Given the description of an element on the screen output the (x, y) to click on. 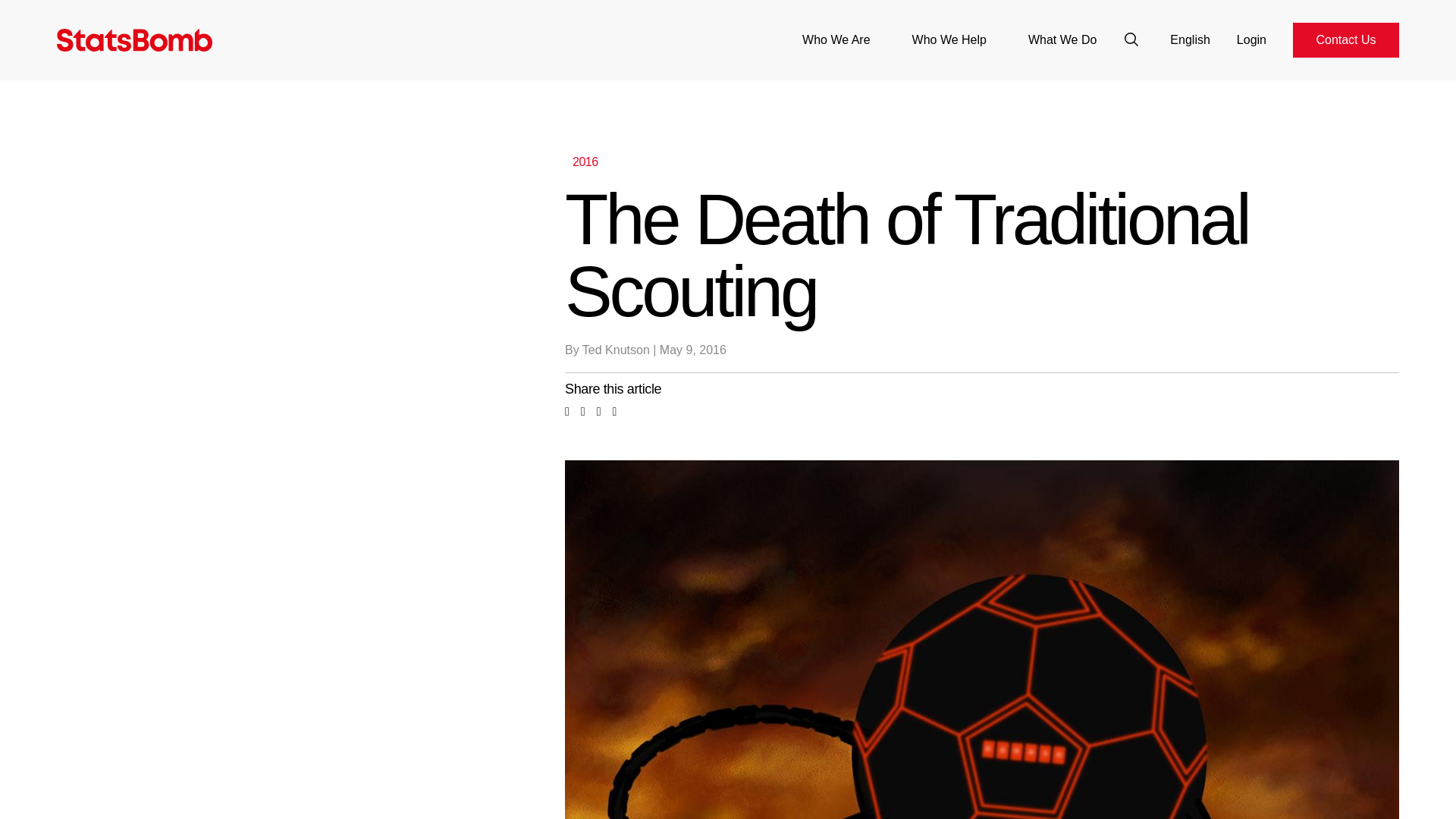
What We Do (1061, 39)
Contact Us (1345, 39)
Login (1251, 39)
Who We Help (949, 39)
Who We Are (836, 39)
